Given the description of an element on the screen output the (x, y) to click on. 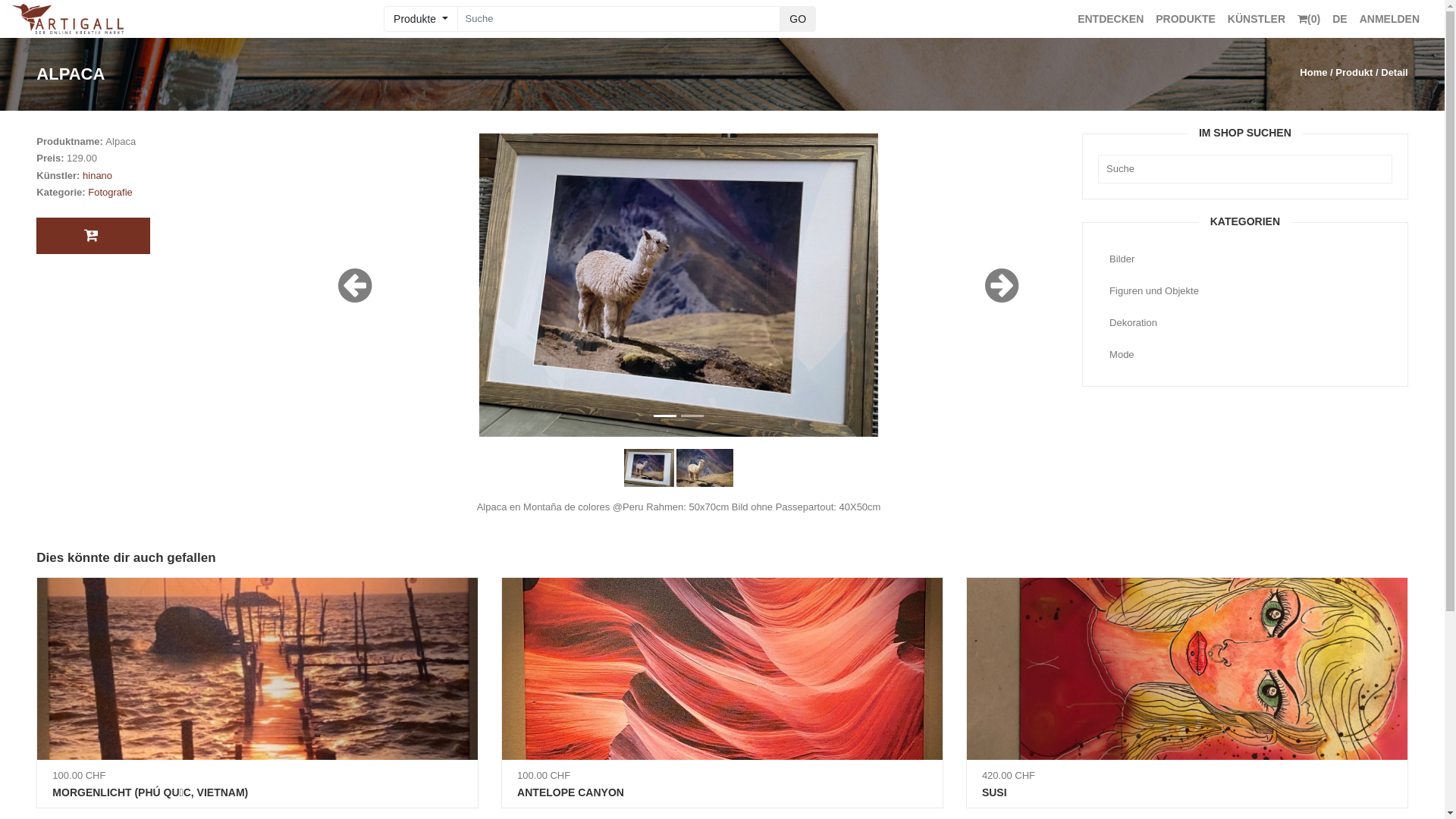
(0) Element type: text (1308, 18)
ENTDECKEN Element type: text (1110, 18)
ANTELOPE CANYON Element type: text (722, 795)
DE Element type: text (1339, 18)
100.00 CHF Element type: text (257, 680)
Figuren und Objekte Element type: text (1245, 291)
Bilder Element type: text (1245, 259)
SUSI Element type: text (1186, 795)
hinano Element type: text (97, 175)
ANMELDEN Element type: text (1389, 18)
GO Element type: text (797, 18)
Dekoration Element type: text (1245, 322)
PRODUKTE Element type: text (1185, 18)
Produkt Element type: text (1353, 72)
vorherige Element type: text (355, 284)
100.00 CHF Element type: text (722, 680)
Fotografie Element type: text (109, 191)
420.00 CHF Element type: text (1186, 680)
Mode Element type: text (1245, 354)
Produkte Element type: text (420, 18)
Home Element type: text (1313, 72)
